Given the description of an element on the screen output the (x, y) to click on. 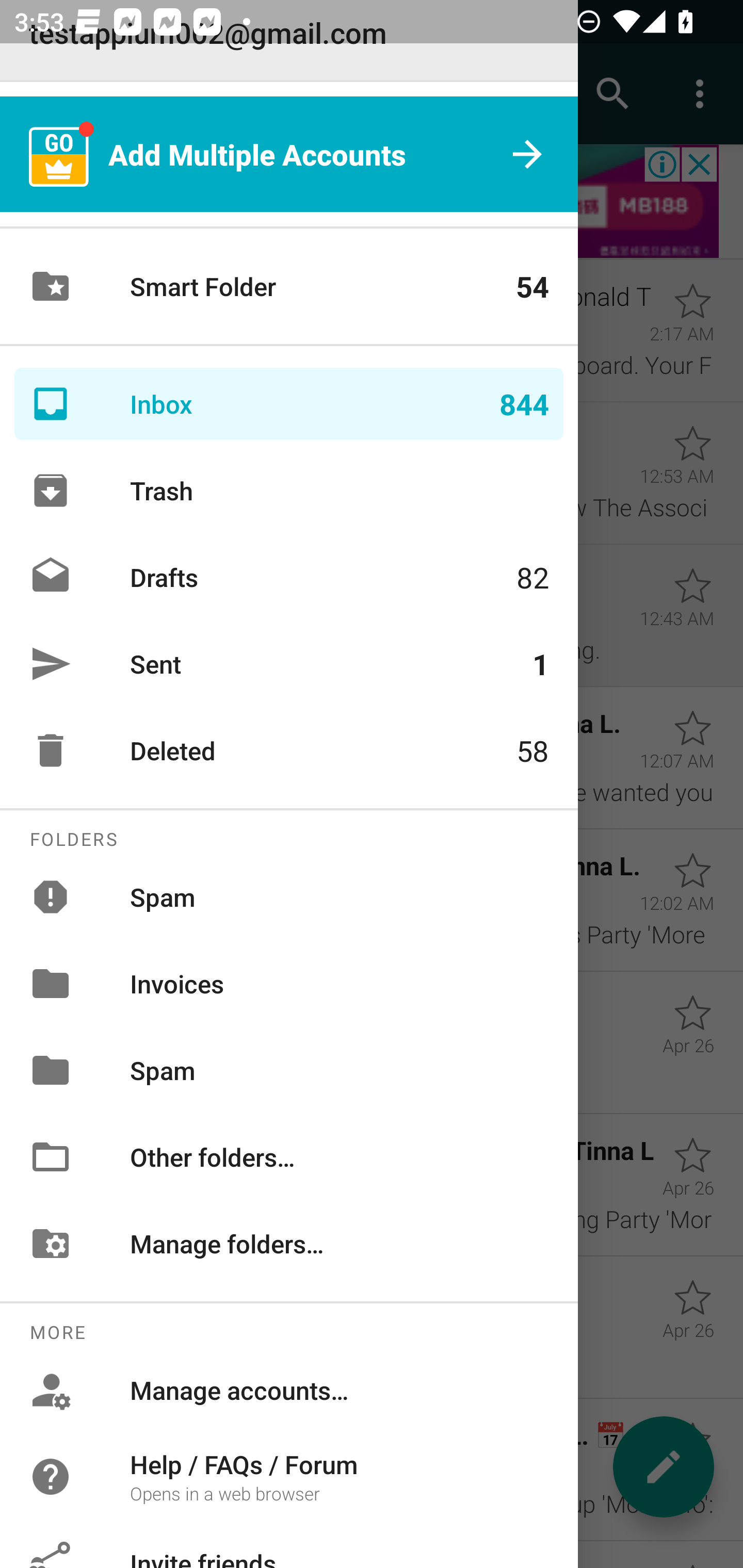
Add Multiple Accounts (289, 154)
Smart Folder 54 (289, 286)
Inbox 844 (289, 403)
Trash (289, 489)
Drafts 82 (289, 576)
Sent 1 (289, 663)
Deleted 58 (289, 750)
Spam (289, 896)
Invoices (289, 983)
Spam (289, 1070)
Other folders… (289, 1156)
Manage folders… (289, 1243)
Manage accounts… (289, 1389)
Help / FAQs / Forum Opens in a web browser (289, 1476)
